Given the description of an element on the screen output the (x, y) to click on. 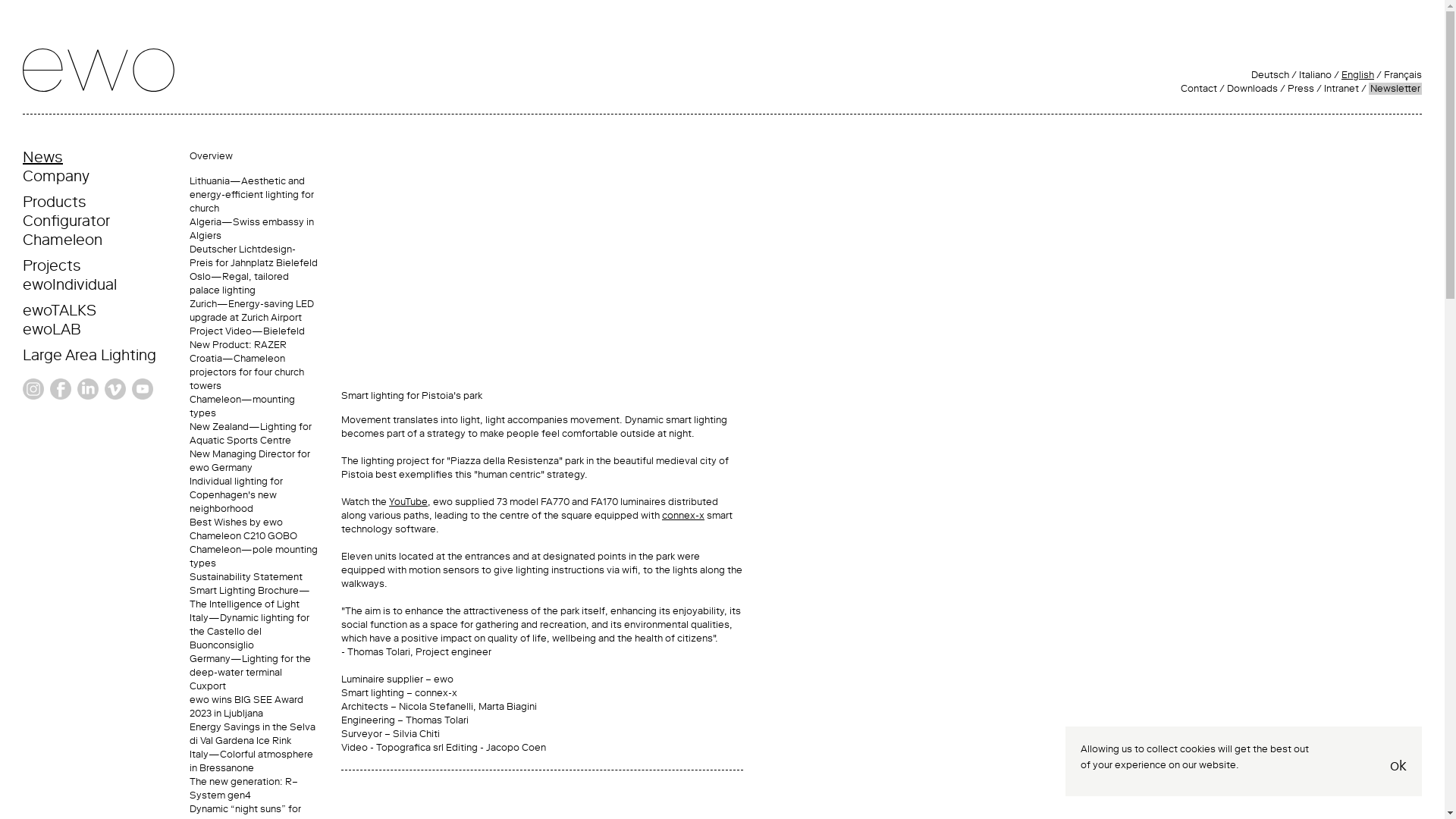
Projects (52, 265)
ewoIndividual (69, 284)
Newsletter (1395, 88)
Contact (1198, 88)
ewo - Configurator (66, 220)
Italiano (1315, 74)
ewo - Press (1300, 88)
Company (55, 176)
ewo - Intranet (1340, 88)
ewo - Large Area Lighting (89, 354)
